Given the description of an element on the screen output the (x, y) to click on. 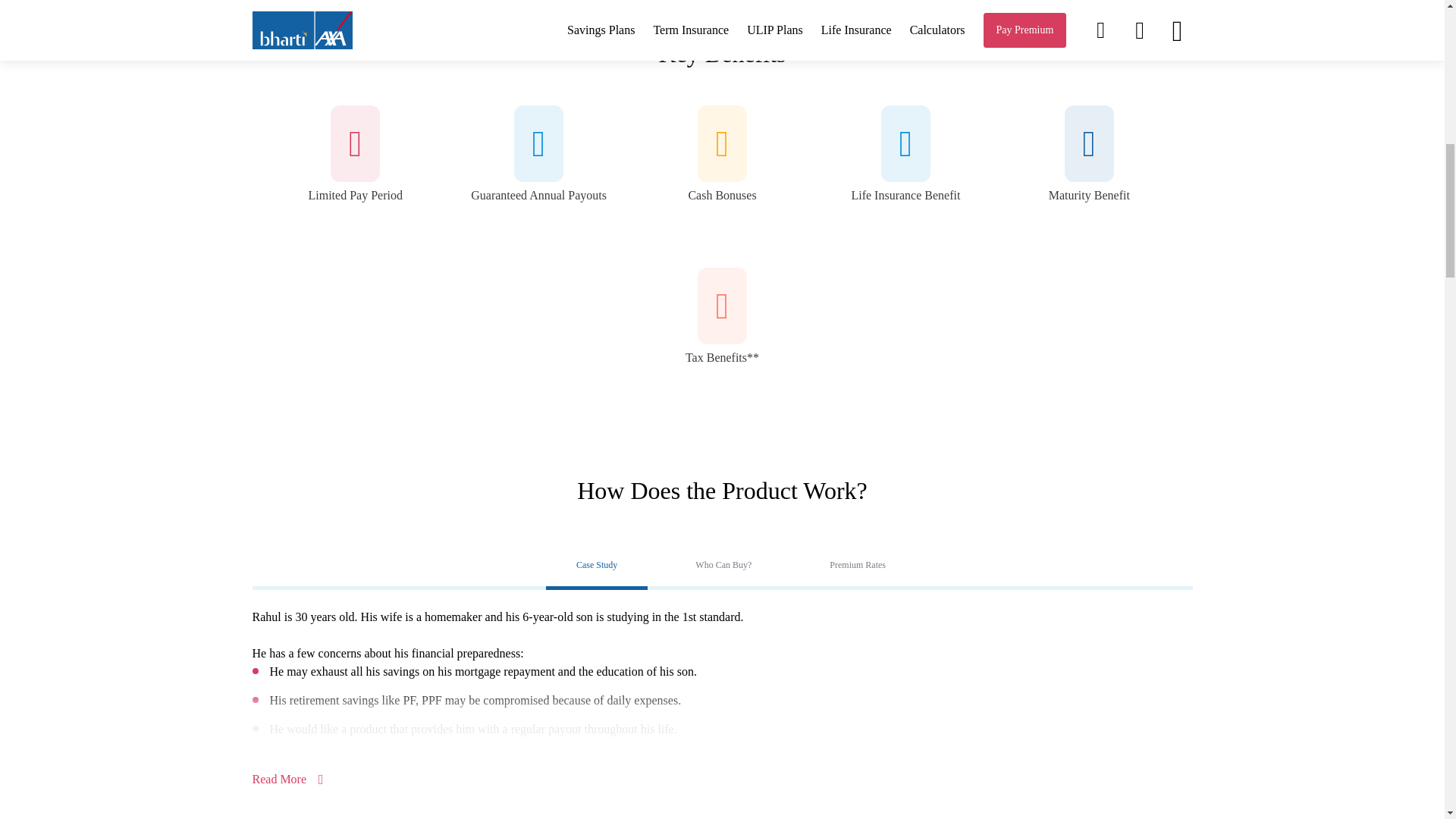
Who Can Buy? (723, 565)
Case Study (596, 565)
Read More (287, 779)
Premium Rates (857, 565)
